Given the description of an element on the screen output the (x, y) to click on. 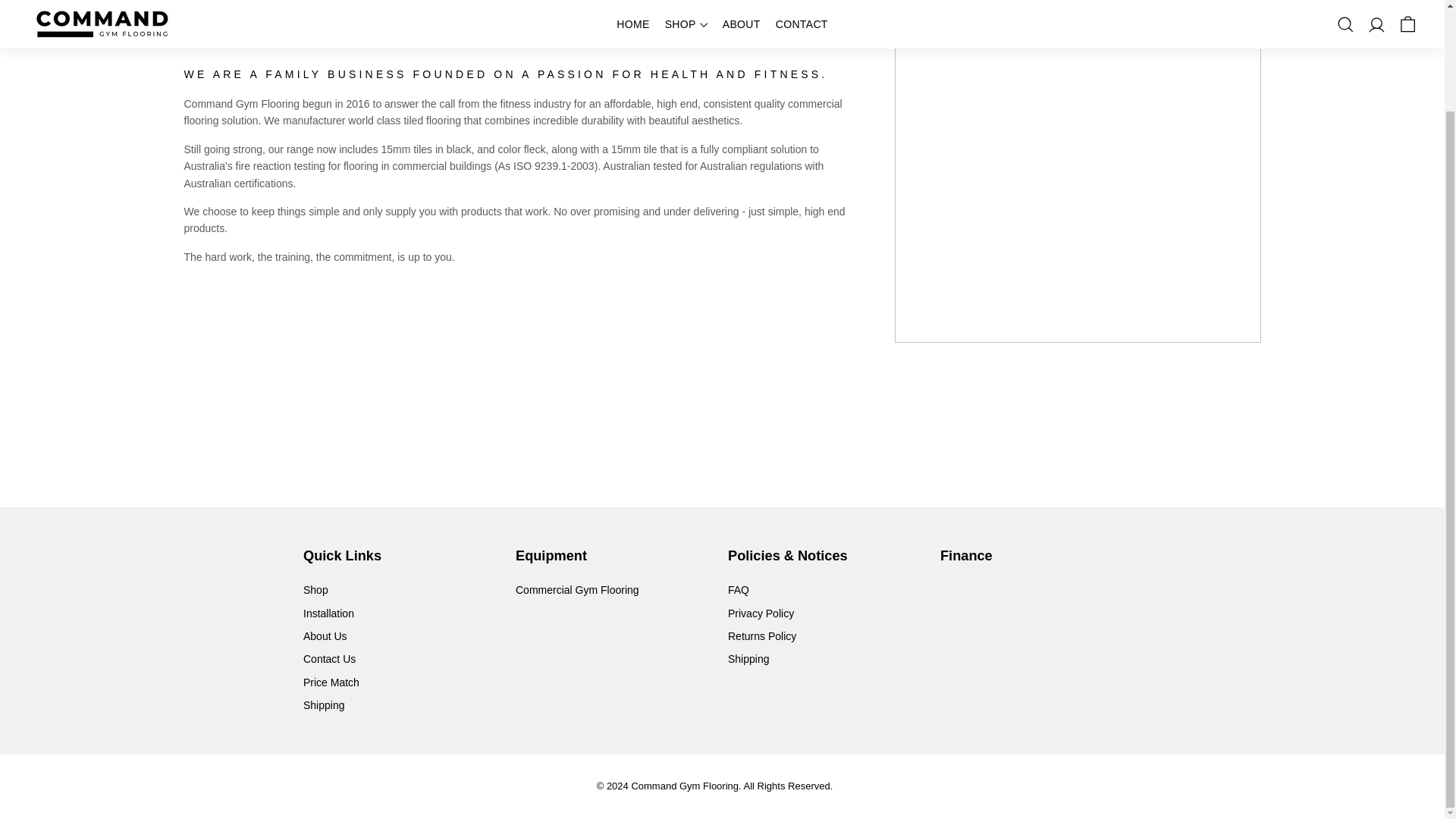
Price Match (330, 681)
Installation (327, 612)
Shop (315, 589)
About Us (324, 635)
Contact Us (328, 658)
